Given the description of an element on the screen output the (x, y) to click on. 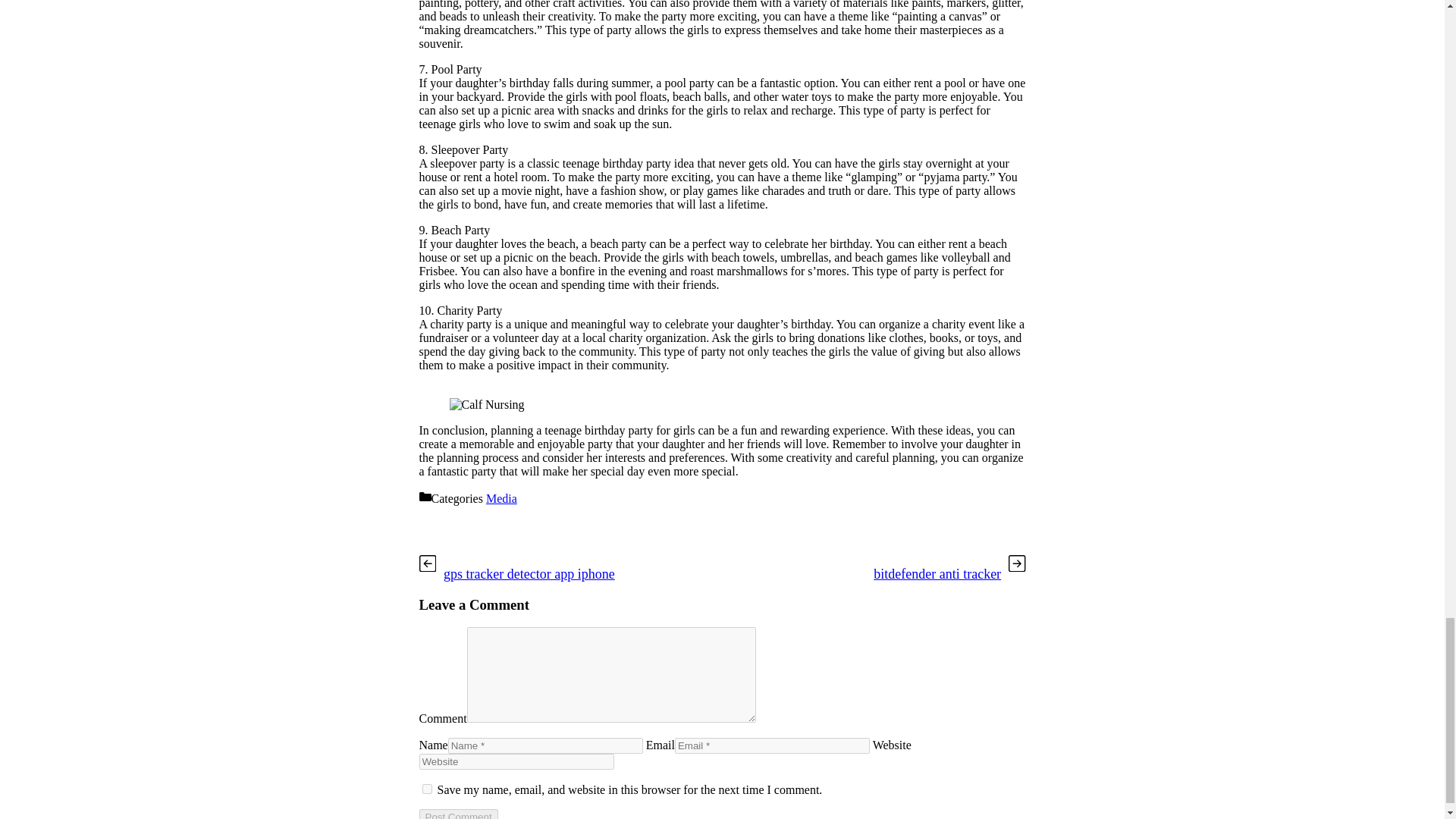
Calf Nursing (486, 404)
Media (501, 498)
gps tracker detector app iphone (529, 573)
bitdefender anti tracker (937, 573)
yes (426, 788)
